Given the description of an element on the screen output the (x, y) to click on. 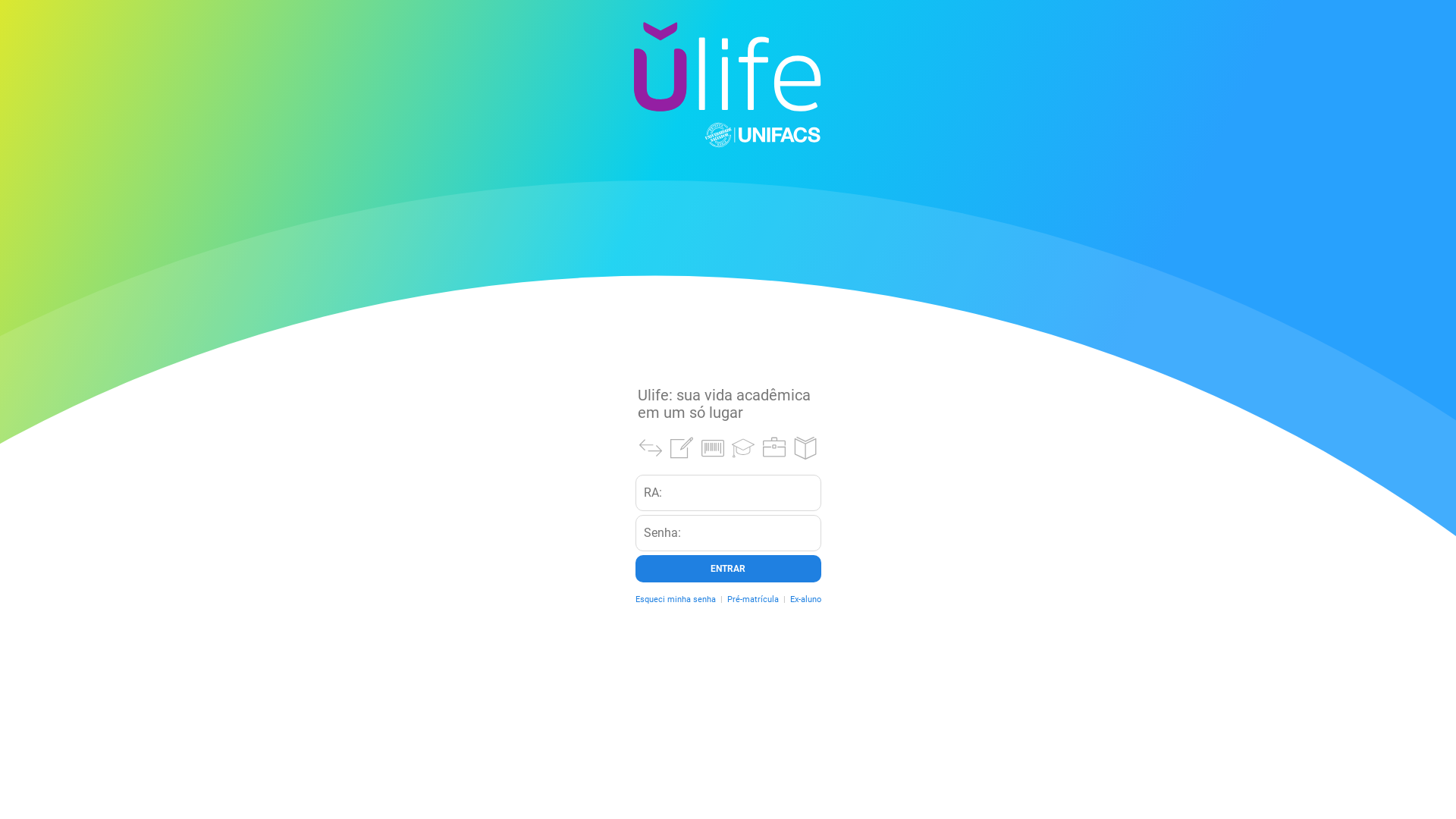
Esqueci minha senha Element type: text (675, 599)
Ex-aluno Element type: text (805, 599)
